Given the description of an element on the screen output the (x, y) to click on. 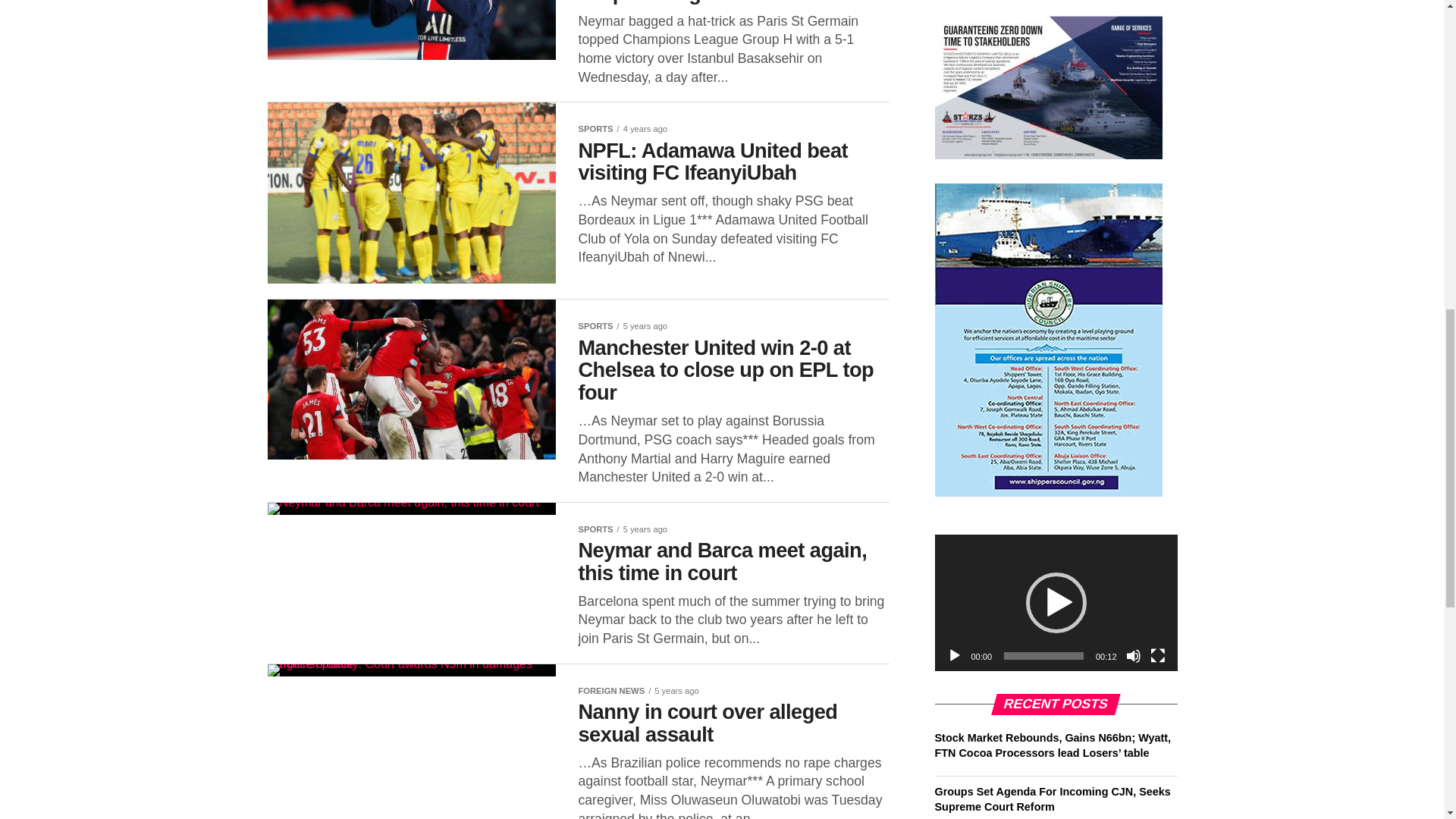
Mute (1132, 655)
Play (953, 655)
Fullscreen (1157, 655)
